Given the description of an element on the screen output the (x, y) to click on. 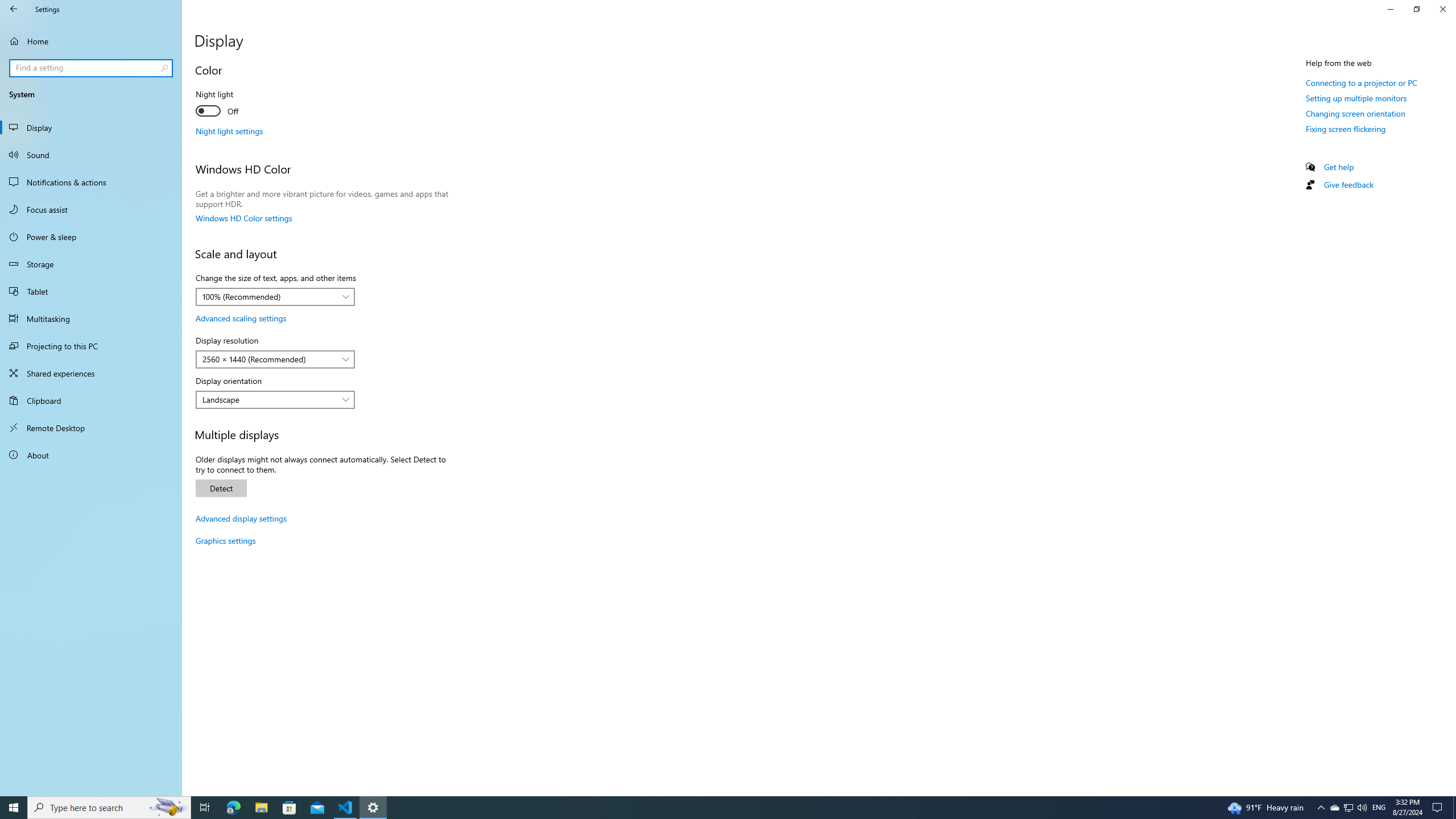
Display resolution (275, 359)
About (91, 454)
Storage (91, 263)
Night light settings (229, 130)
Give feedback (1348, 184)
Running applications (706, 807)
Changing screen orientation (1355, 113)
